Given the description of an element on the screen output the (x, y) to click on. 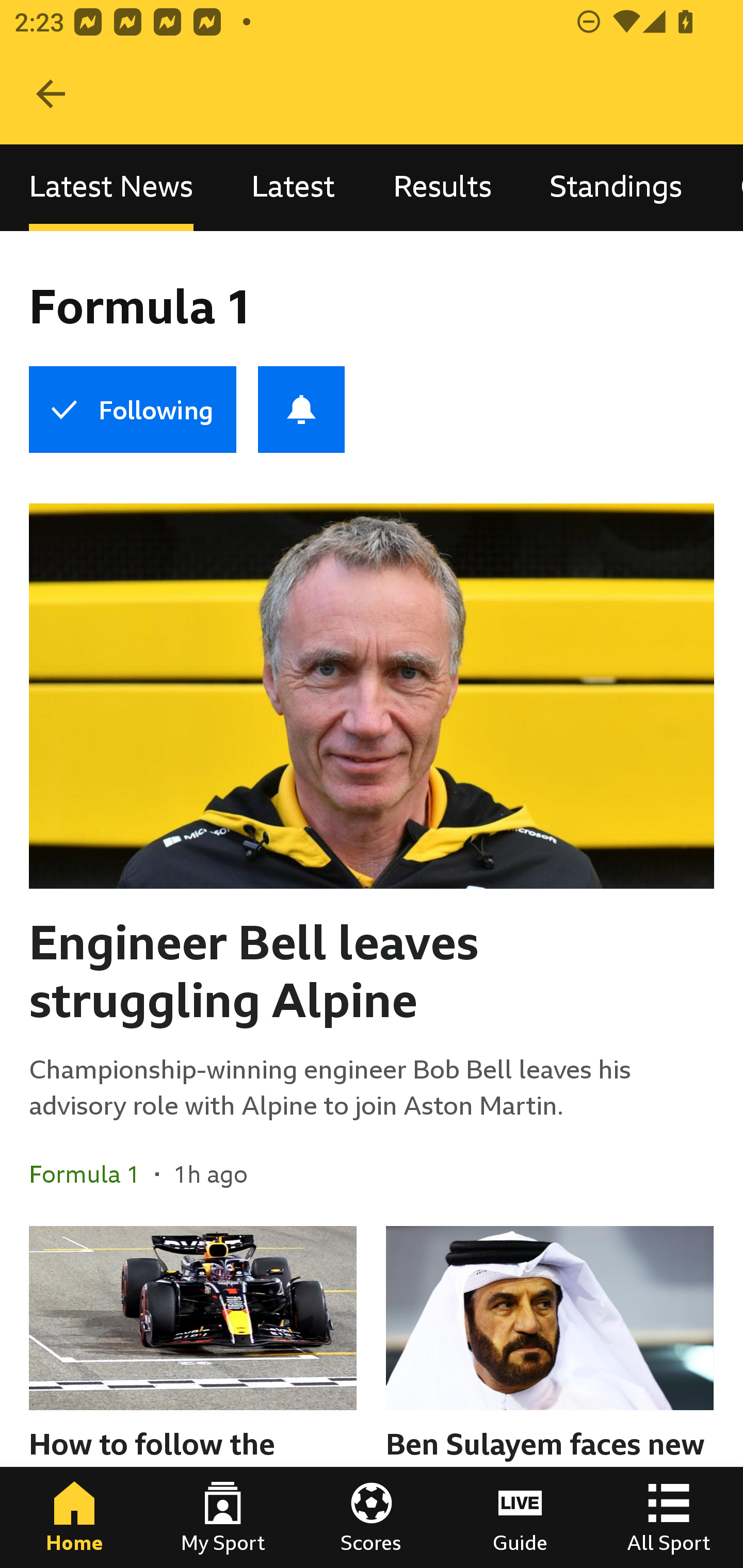
Navigate up (50, 93)
Latest News, selected Latest News (111, 187)
Latest (293, 187)
Results (442, 187)
Standings (615, 187)
Following Formula 1 Following (132, 409)
Push notifications for Formula 1 (300, 409)
My Sport (222, 1517)
Scores (371, 1517)
Guide (519, 1517)
All Sport (668, 1517)
